Given the description of an element on the screen output the (x, y) to click on. 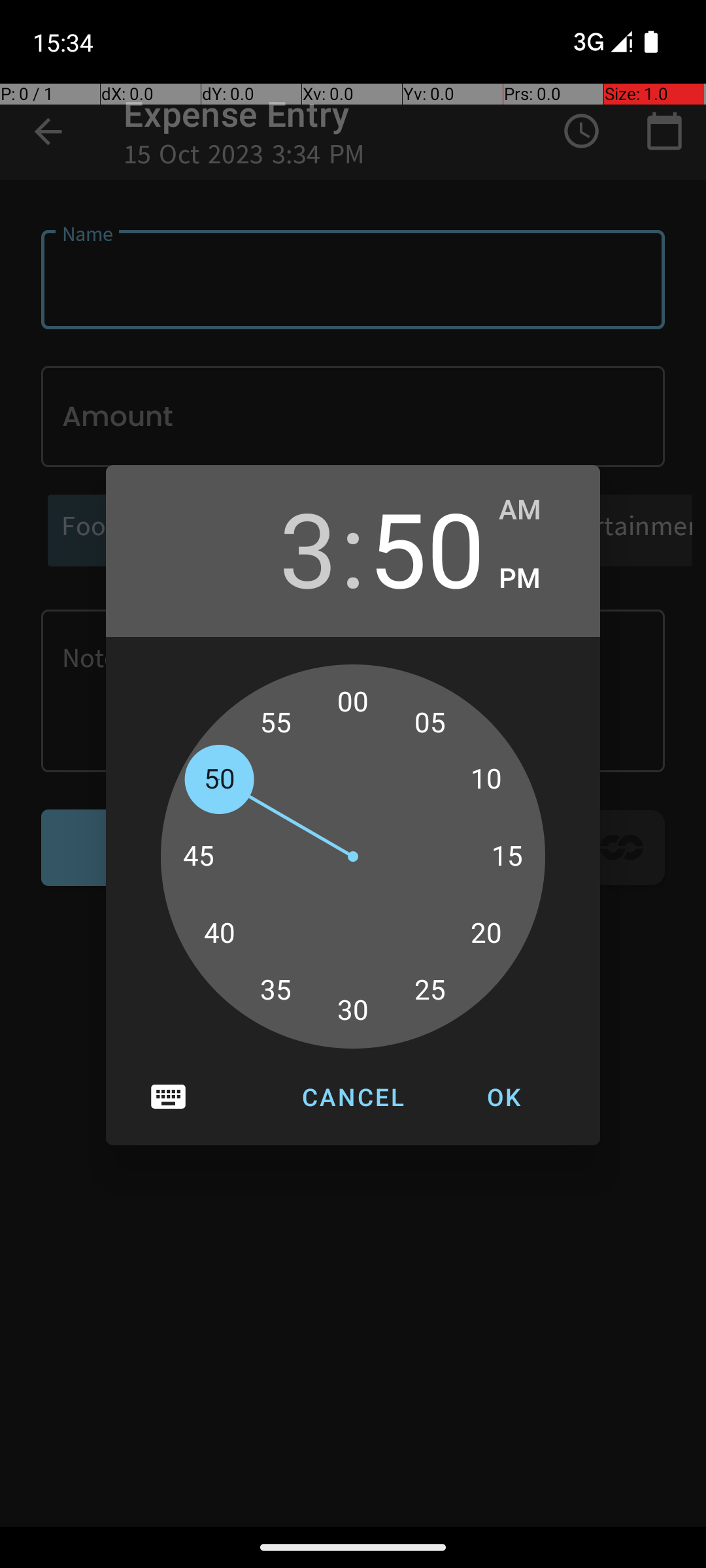
50 Element type: android.widget.TextView (426, 547)
34 Element type: android.widget.RadialTimePickerView$RadialPickerTouchHelper (289, 996)
35 Element type: android.widget.RadialTimePickerView$RadialPickerTouchHelper (275, 989)
40 Element type: android.widget.RadialTimePickerView$RadialPickerTouchHelper (218, 933)
45 Element type: android.widget.RadialTimePickerView$RadialPickerTouchHelper (198, 856)
55 Element type: android.widget.RadialTimePickerView$RadialPickerTouchHelper (275, 722)
CANCEL Element type: android.widget.Button (352, 1096)
AM Element type: android.widget.RadioButton (535, 510)
PM Element type: android.widget.RadioButton (535, 578)
